Given the description of an element on the screen output the (x, y) to click on. 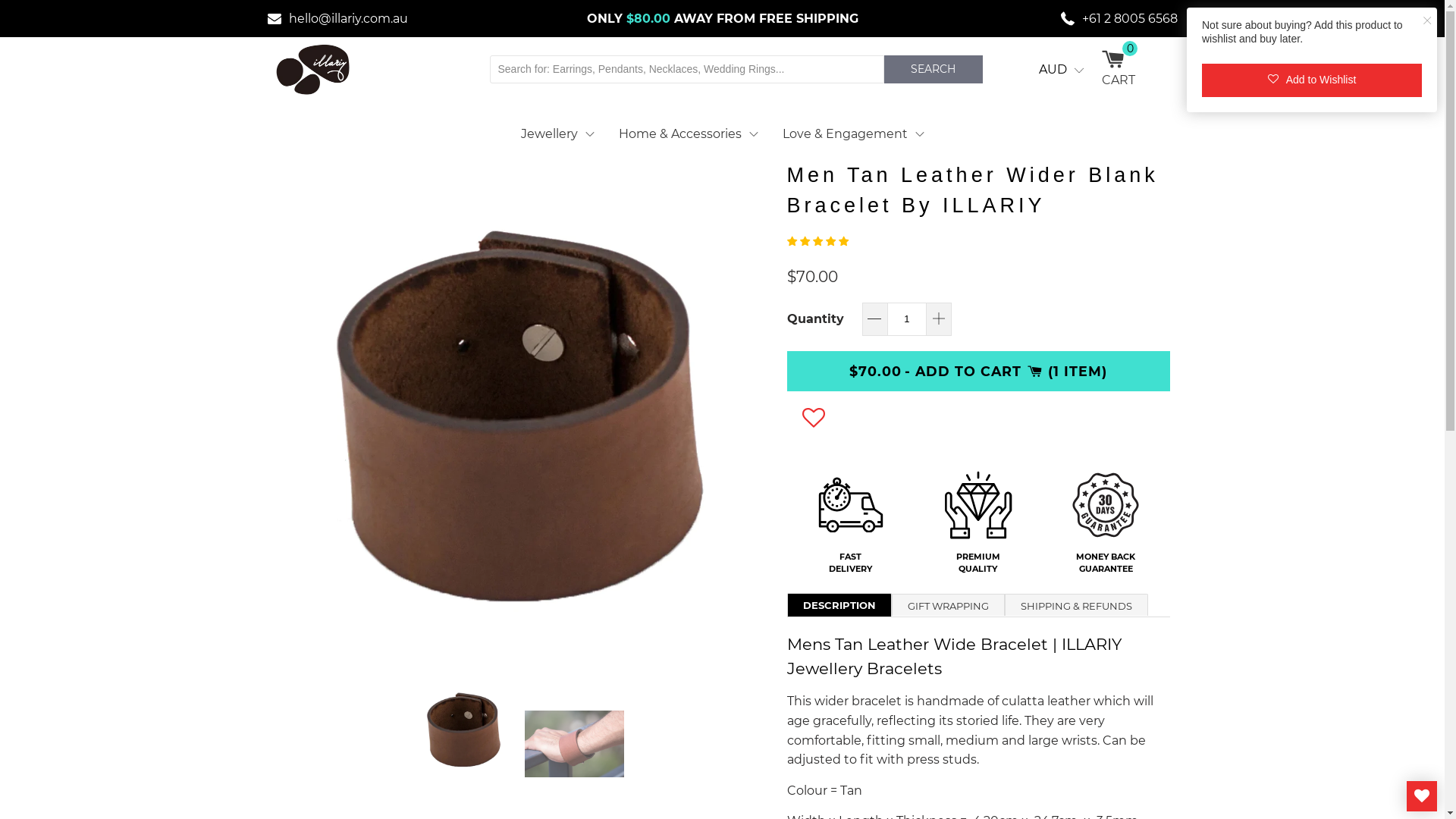
Love & Engagement Element type: text (853, 133)
$70.00
- ADD TO CART
(1 ITEM) Element type: text (978, 371)
SHIPPING & REFUNDS Element type: text (1075, 604)
DESCRIPTION Element type: text (839, 604)
Jewellery Element type: text (556, 133)
Add to Wishlist Element type: text (1311, 80)
GIFT WRAPPING Element type: text (947, 604)
Home & Accessories Element type: text (688, 133)
ILLARIY Element type: hover (311, 69)
hello@illariy.com.au Element type: text (336, 18)
SEARCH Element type: text (933, 69)
+61 2 8005 6568 Element type: text (1062, 18)
MY WISHLIST Element type: text (1421, 796)
